Given the description of an element on the screen output the (x, y) to click on. 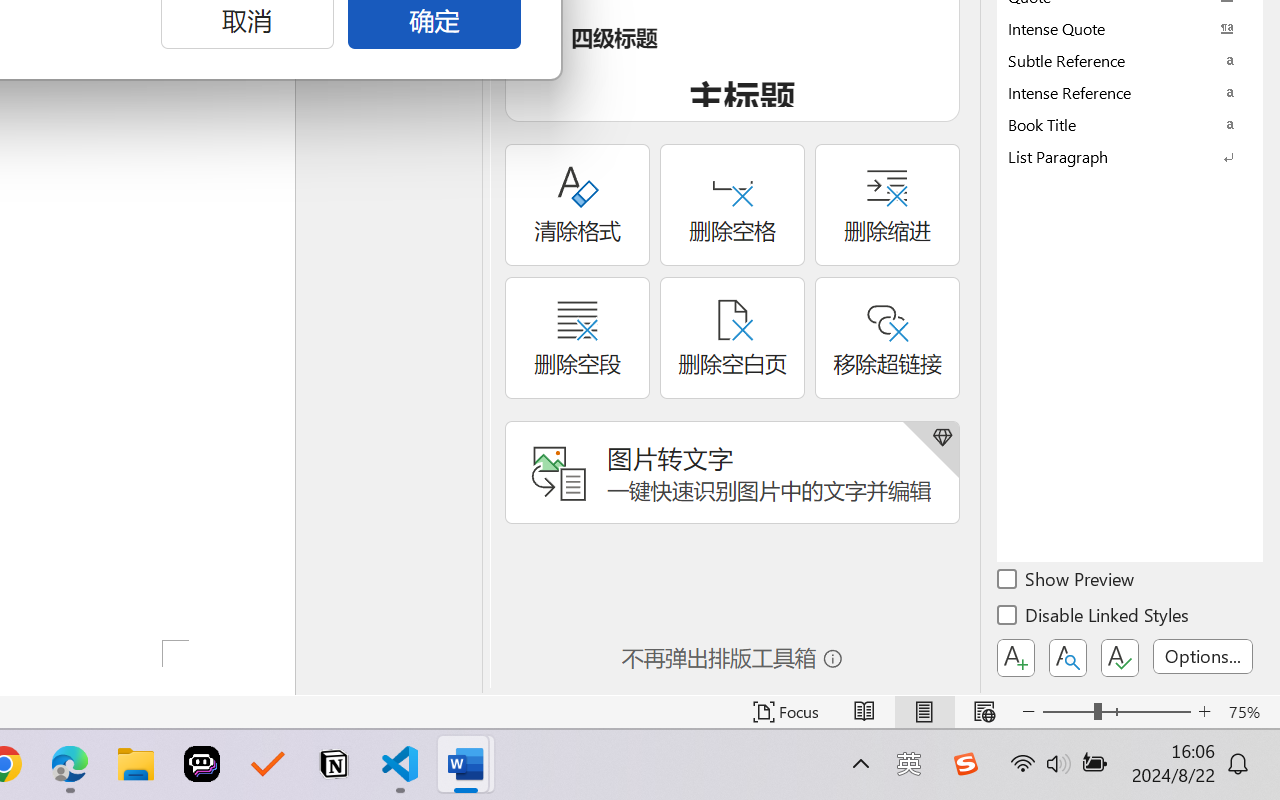
List Paragraph (1130, 156)
Zoom (1116, 712)
Intense Reference (1130, 92)
Zoom In (1204, 712)
Disable Linked Styles (1094, 618)
